Given the description of an element on the screen output the (x, y) to click on. 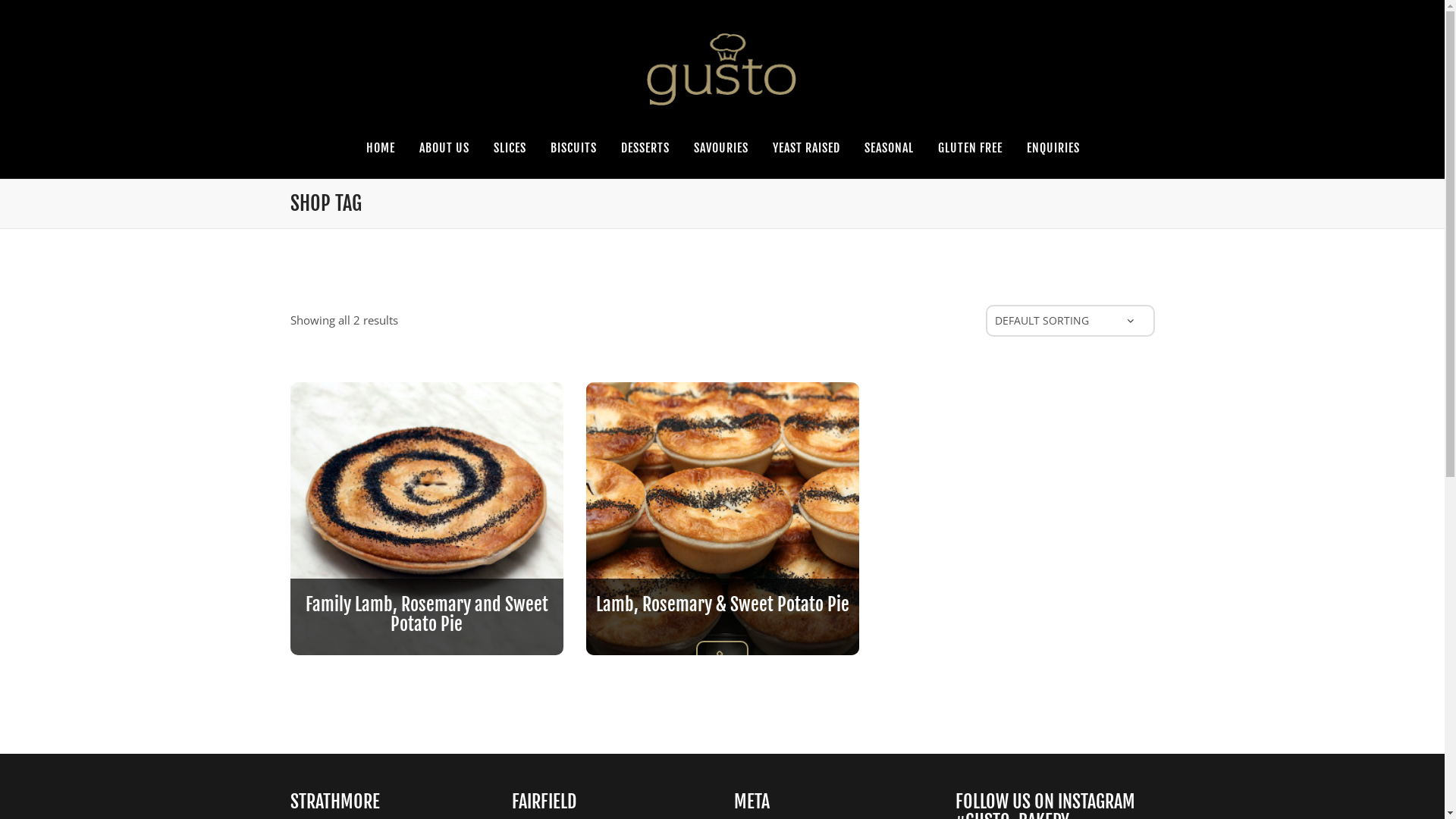
SEASONAL Element type: text (889, 147)
ABOUT US Element type: text (443, 147)
Lamb, Rosemary & Sweet Potato Pie Element type: hover (722, 655)
YEAST RAISED Element type: text (806, 147)
SAVOURIES Element type: text (720, 147)
ENQUIRIES Element type: text (1053, 147)
GLUTEN FREE Element type: text (969, 147)
Gusto Bakery Element type: hover (722, 68)
SLICES Element type: text (509, 147)
BISCUITS Element type: text (573, 147)
Lamb, Rosemary & Sweet Potato Pie Element type: text (721, 604)
DESSERTS Element type: text (644, 147)
HOME Element type: text (380, 147)
Family Lamb, Rosemary and Sweet Potato Pie Element type: text (425, 614)
